Given the description of an element on the screen output the (x, y) to click on. 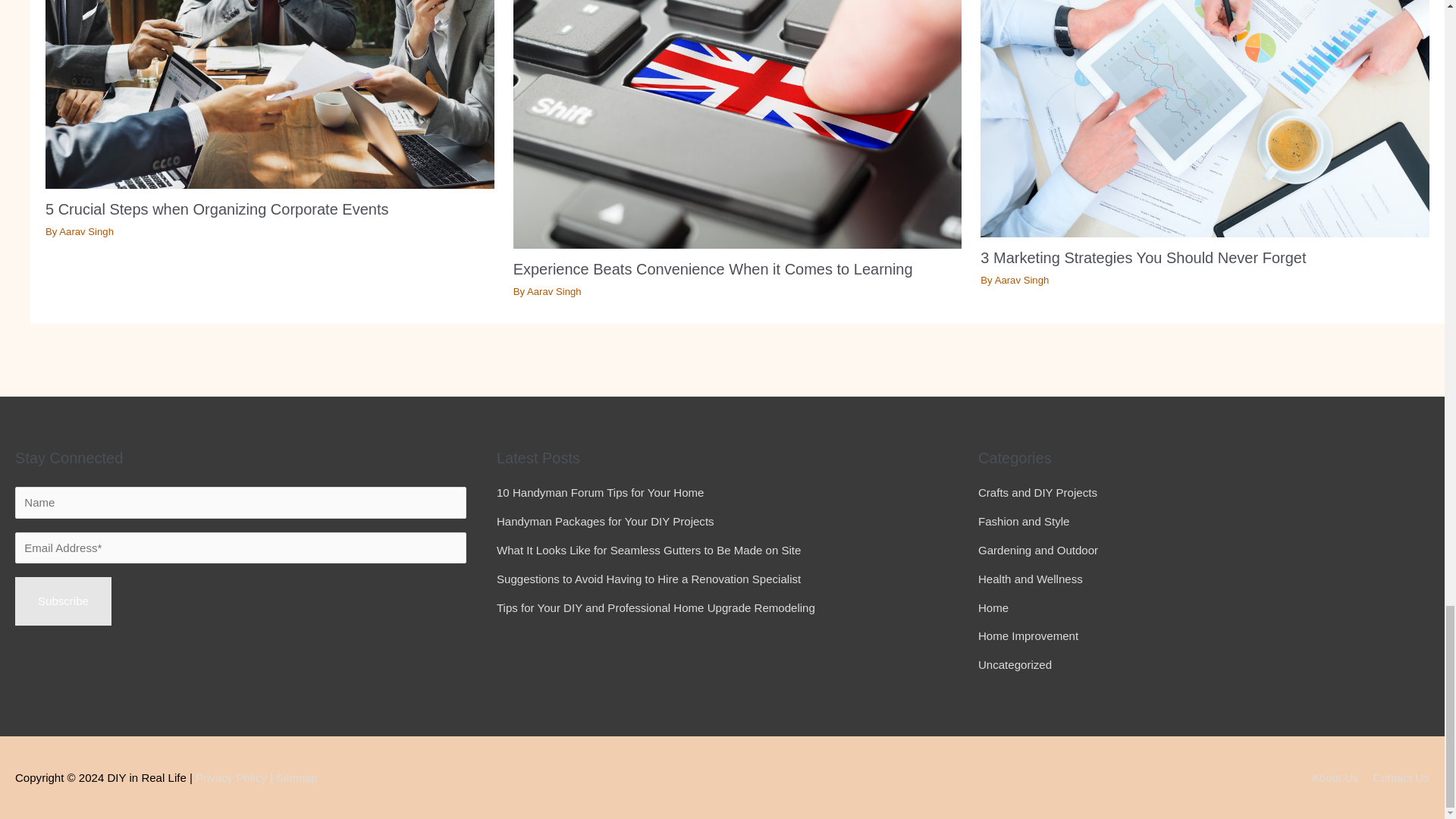
10 Handyman Forum Tips for Your Home (599, 492)
What It Looks Like for Seamless Gutters to Be Made on Site (648, 549)
5 Crucial Steps when Organizing Corporate Events (216, 208)
View all posts by Aarav Singh (1021, 279)
Aarav Singh (86, 231)
Fashion and Style (1023, 521)
3 Marketing Strategies You Should Never Forget (1142, 257)
Tips for Your DIY and Professional Home Upgrade Remodeling (655, 607)
Subscribe (63, 601)
View all posts by Aarav Singh (86, 231)
